Given the description of an element on the screen output the (x, y) to click on. 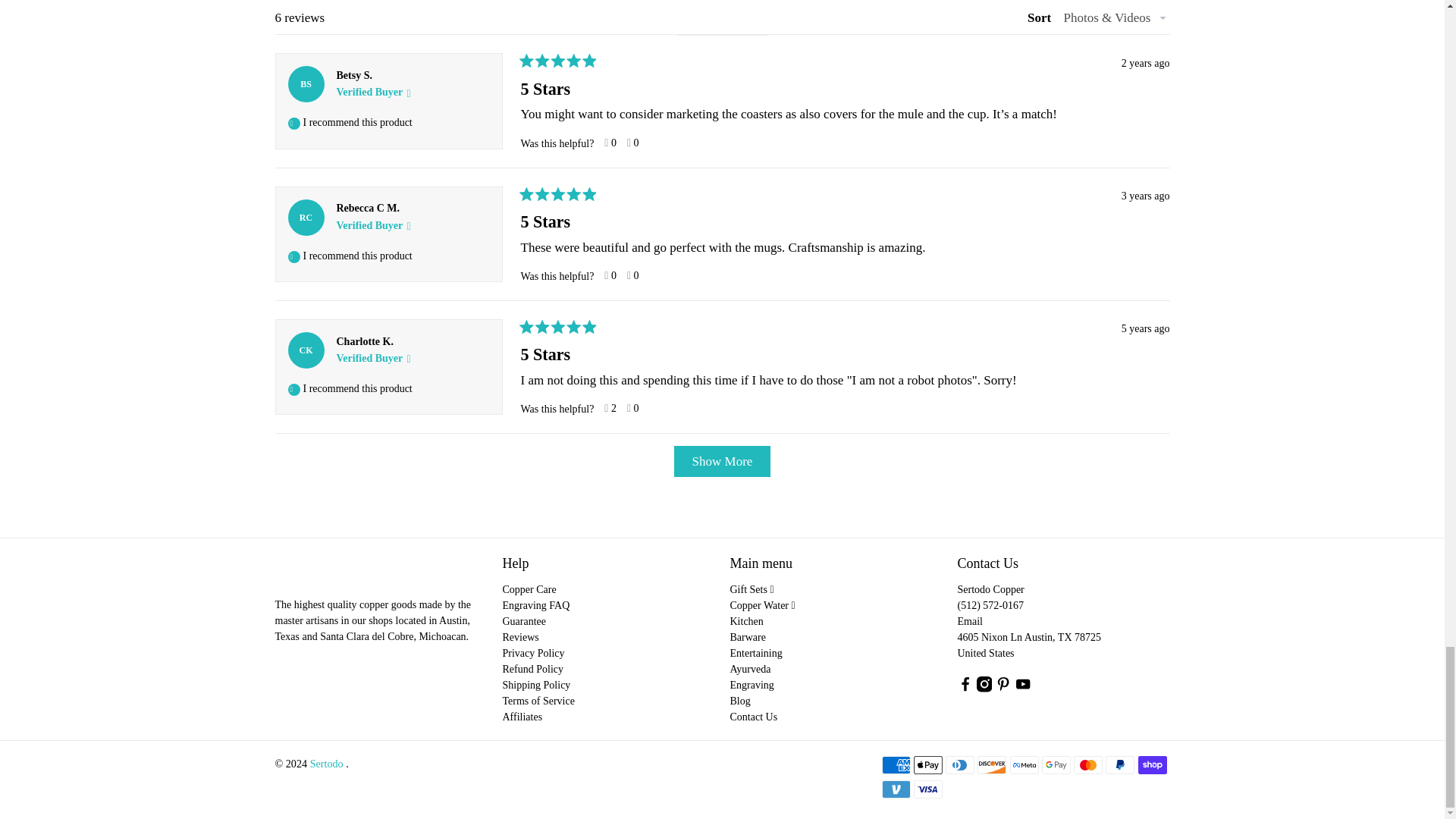
Sertodo  (338, 574)
Sertodo  on Facebook (964, 688)
Sertodo  on YouTube (1022, 688)
Sertodo  on Pinterest (1002, 688)
Sertodo  on Instagram (983, 688)
